Given the description of an element on the screen output the (x, y) to click on. 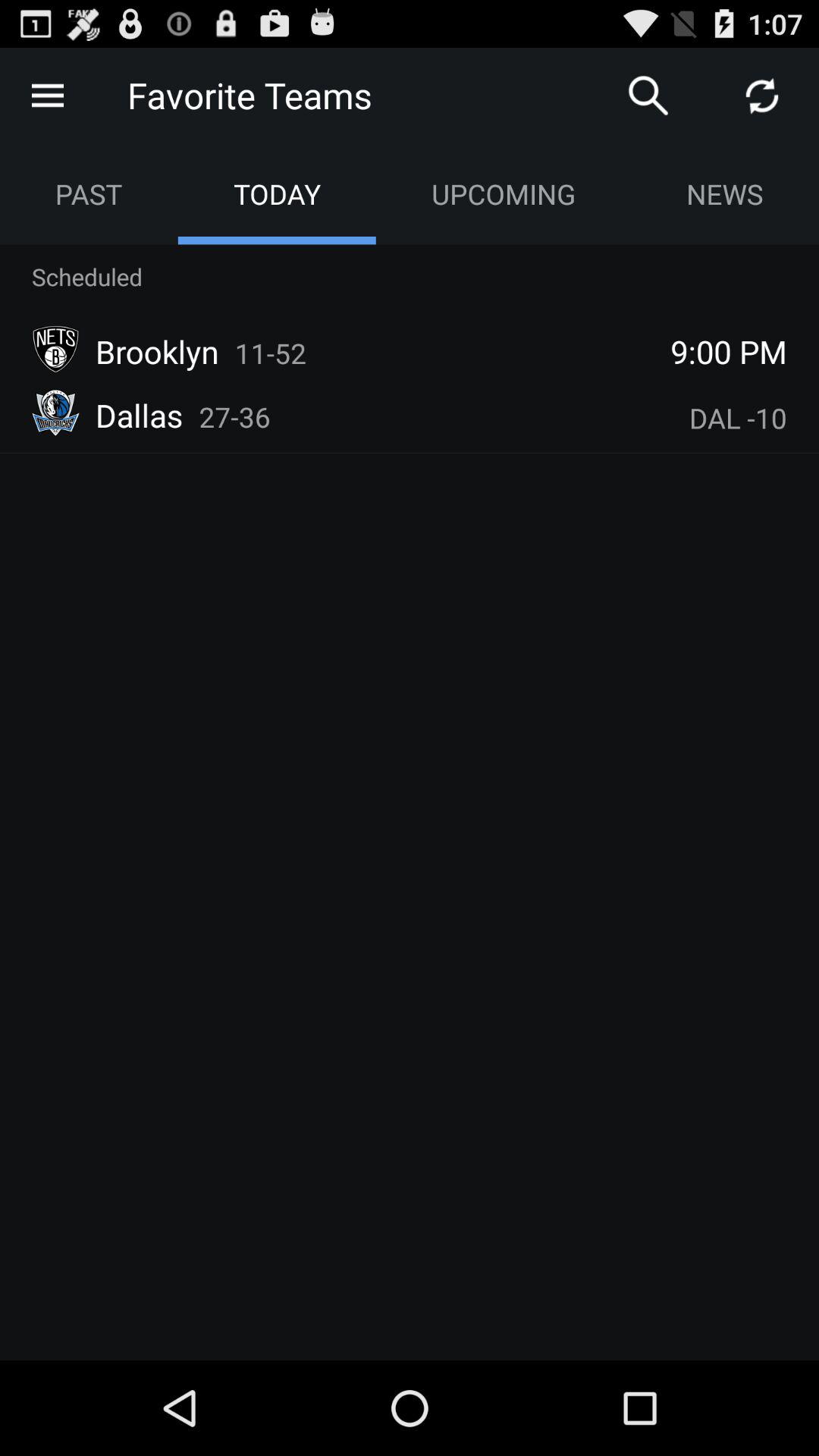
refresh page (762, 95)
